Given the description of an element on the screen output the (x, y) to click on. 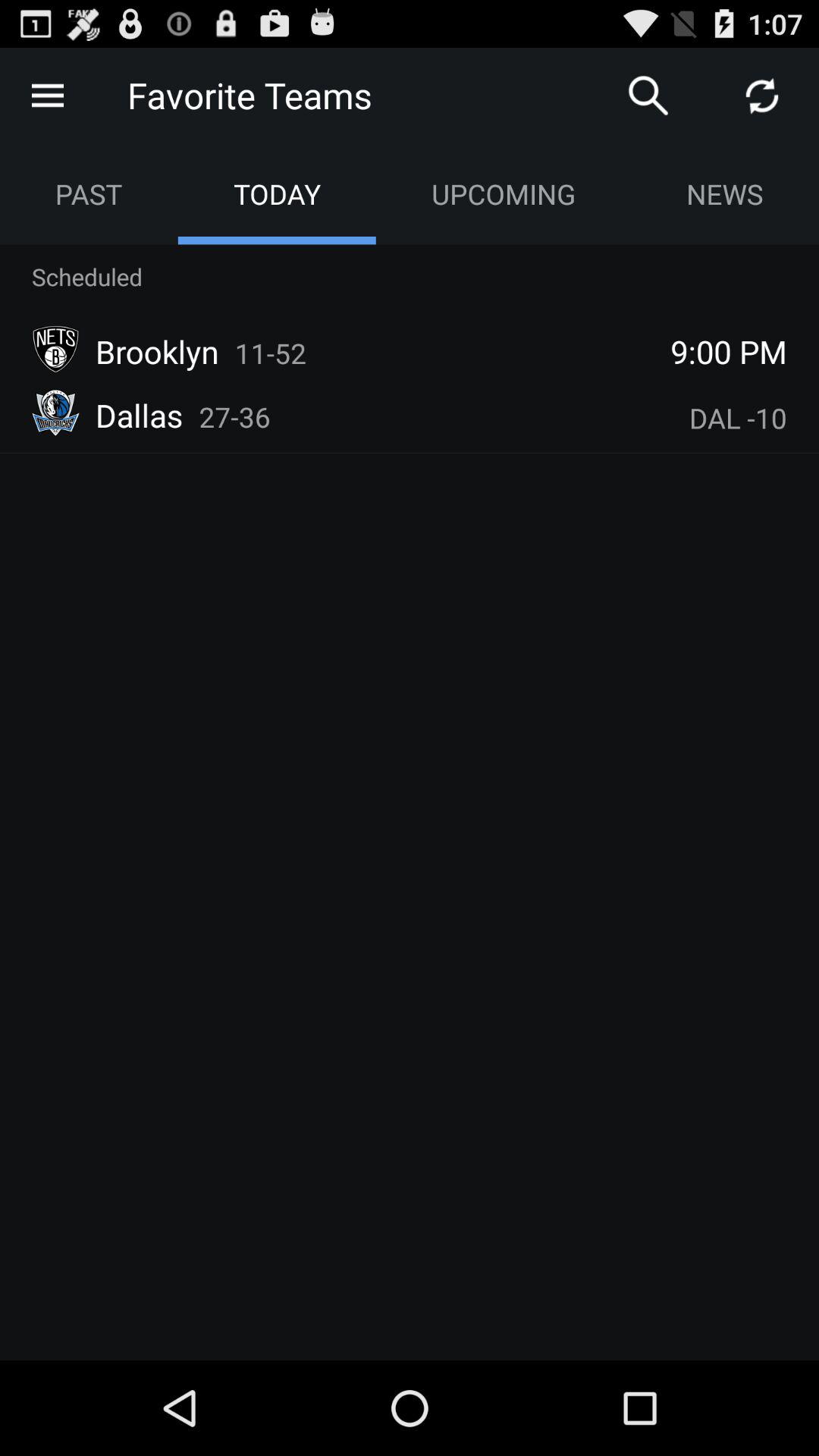
refresh page (762, 95)
